Given the description of an element on the screen output the (x, y) to click on. 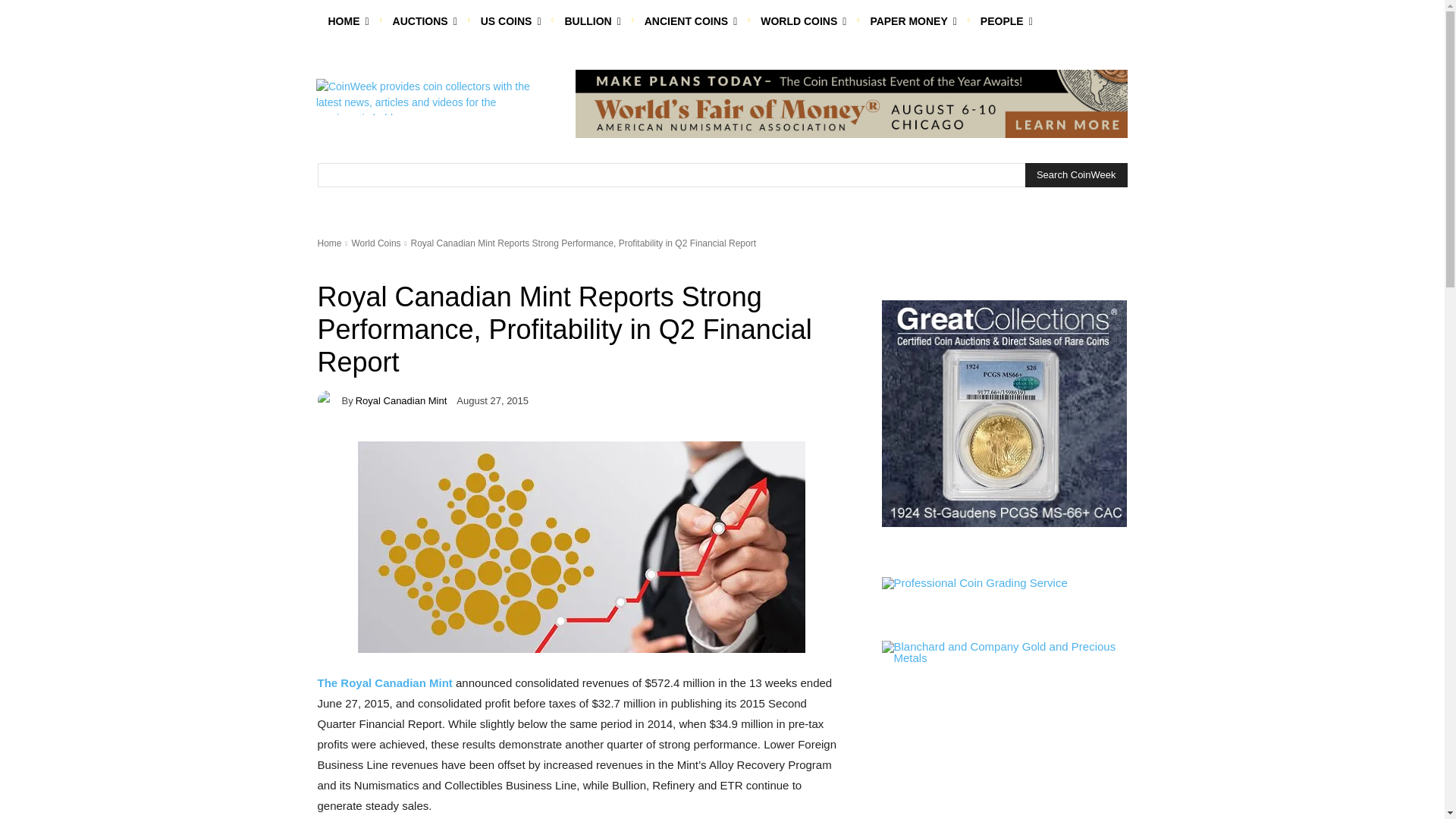
HOME (347, 21)
AUCTIONS (424, 21)
Royal Canadian Mint (328, 400)
View all posts in World Coins (375, 243)
